Given the description of an element on the screen output the (x, y) to click on. 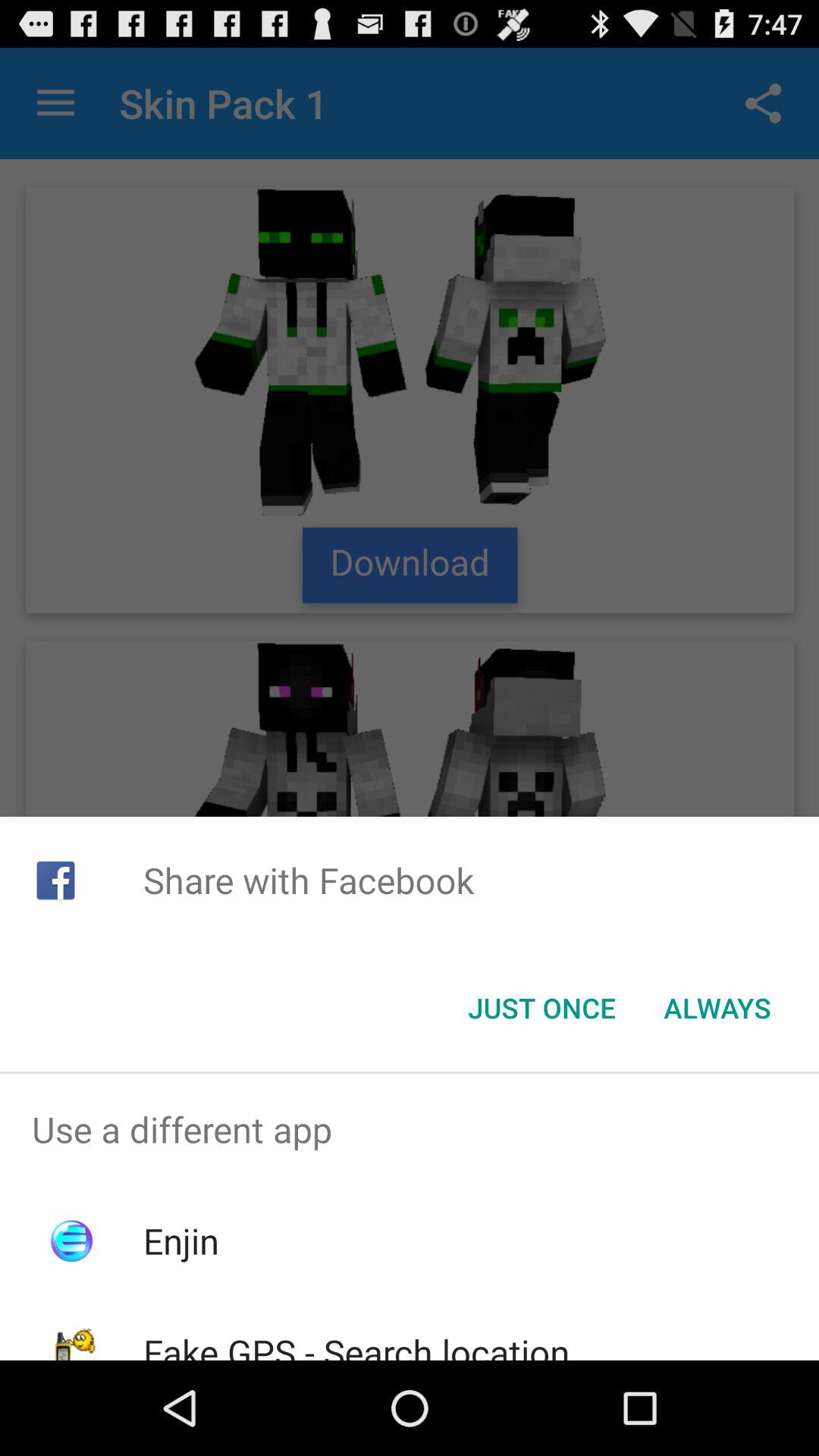
open item below use a different icon (180, 1240)
